Given the description of an element on the screen output the (x, y) to click on. 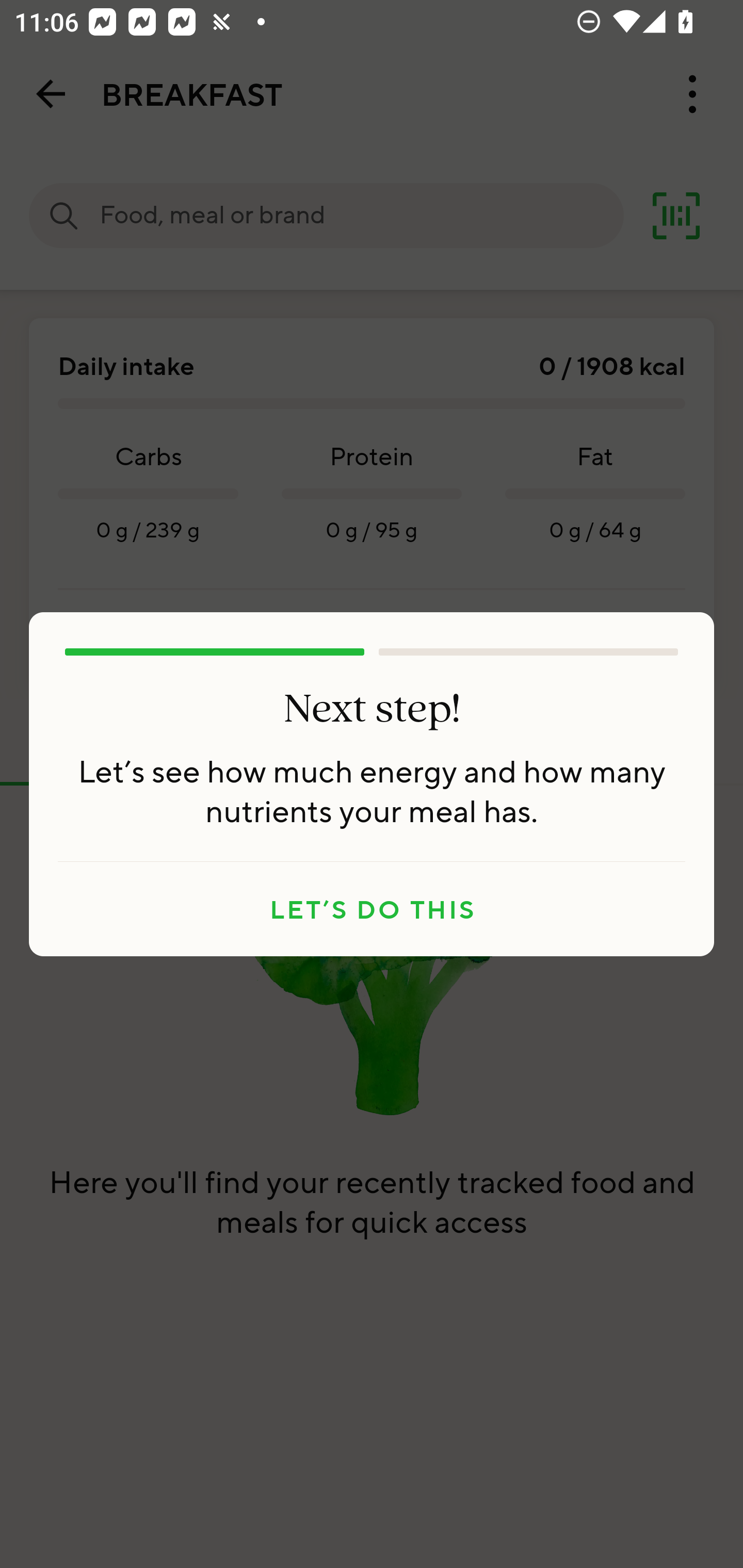
LET’S DO THIS (371, 909)
